Given the description of an element on the screen output the (x, y) to click on. 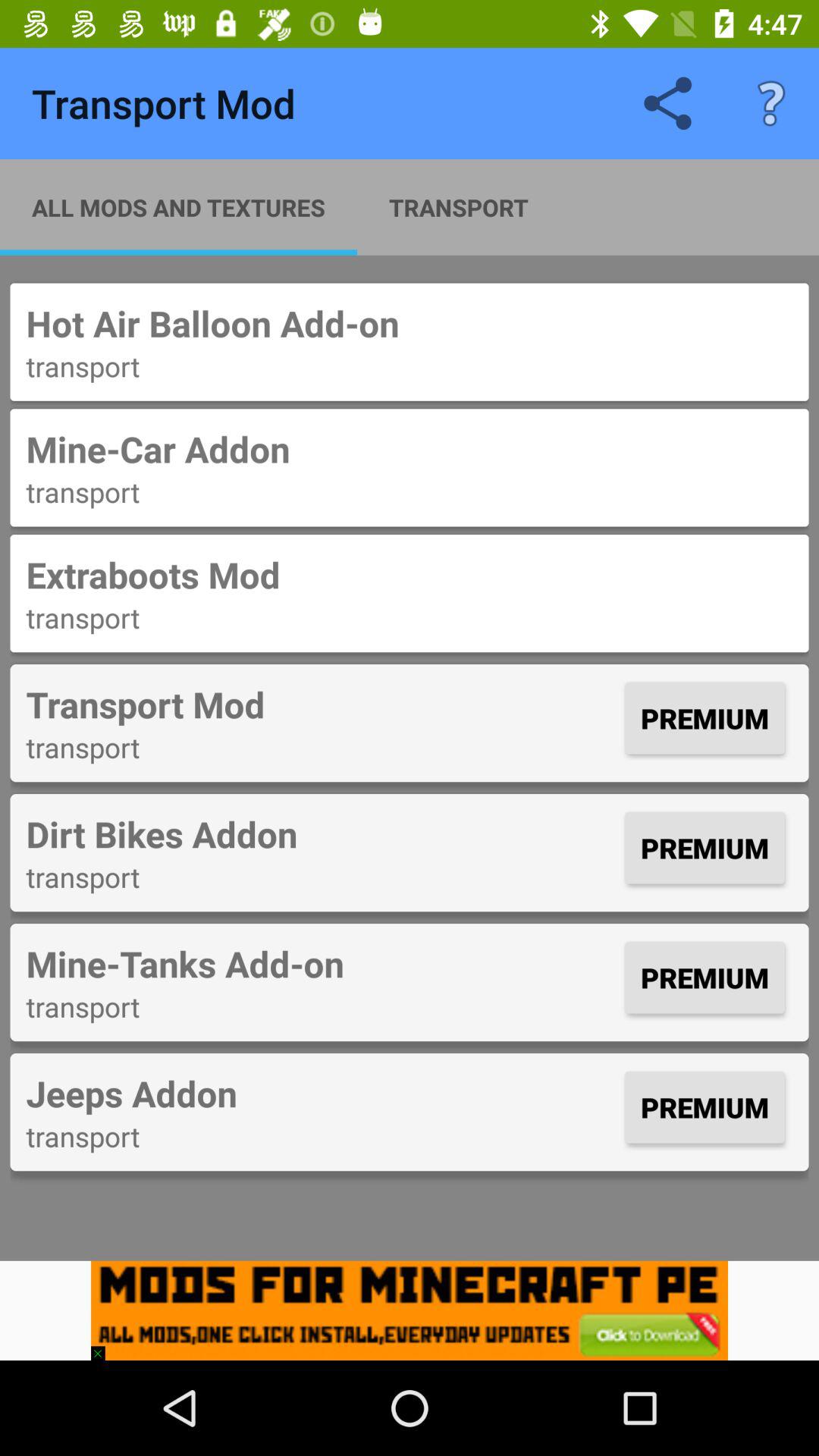
flip to the dirt bikes addon item (321, 833)
